Given the description of an element on the screen output the (x, y) to click on. 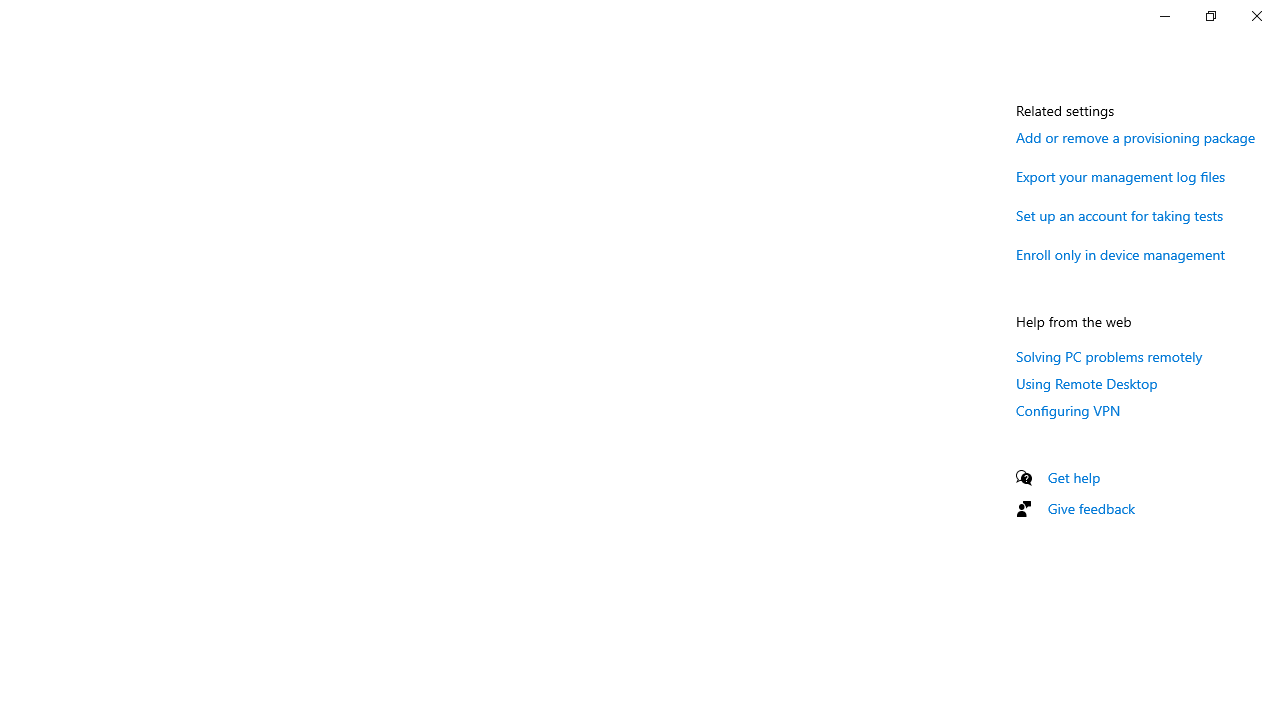
Using Remote Desktop (1087, 383)
Get help (1074, 477)
Add or remove a provisioning package (1135, 137)
Restore Settings (1210, 15)
Give feedback (1091, 507)
Configuring VPN (1068, 410)
Export your management log files (1121, 176)
Solving PC problems remotely (1109, 356)
Close Settings (1256, 15)
Set up an account for taking tests (1119, 214)
Minimize Settings (1164, 15)
Enroll only in device management (1121, 254)
